Given the description of an element on the screen output the (x, y) to click on. 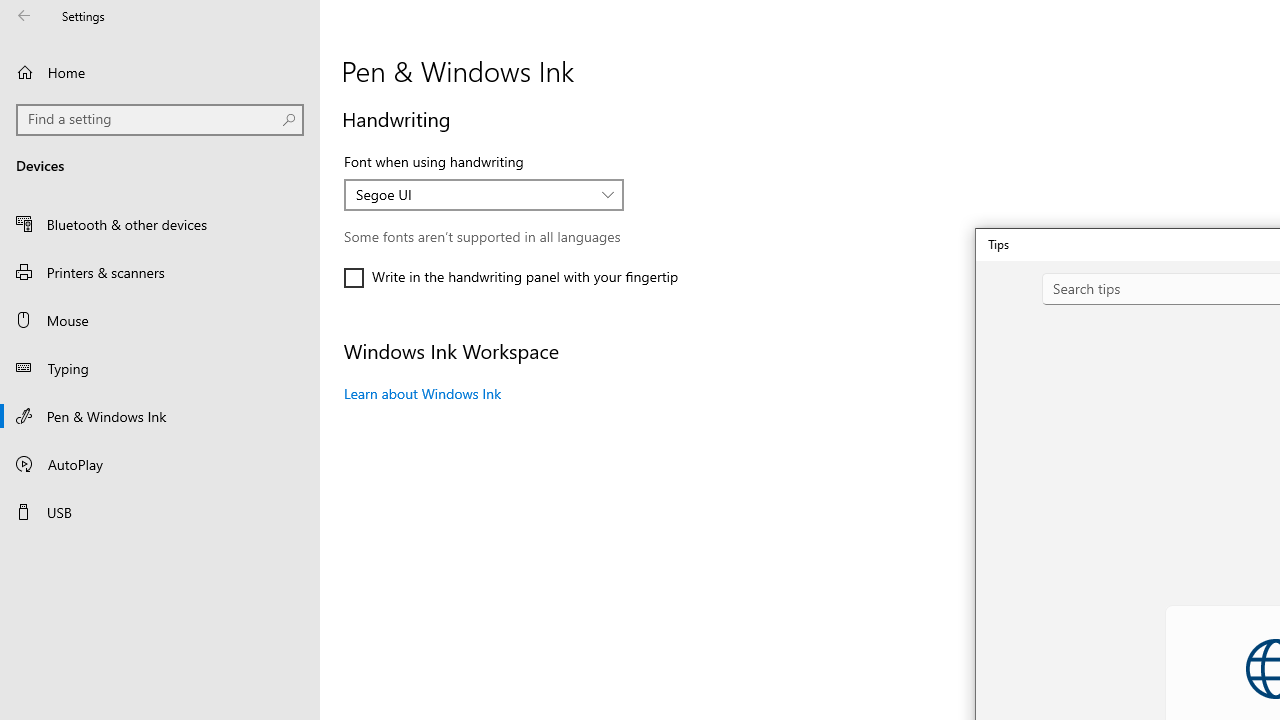
Discover tips online (1088, 502)
